Given the description of an element on the screen output the (x, y) to click on. 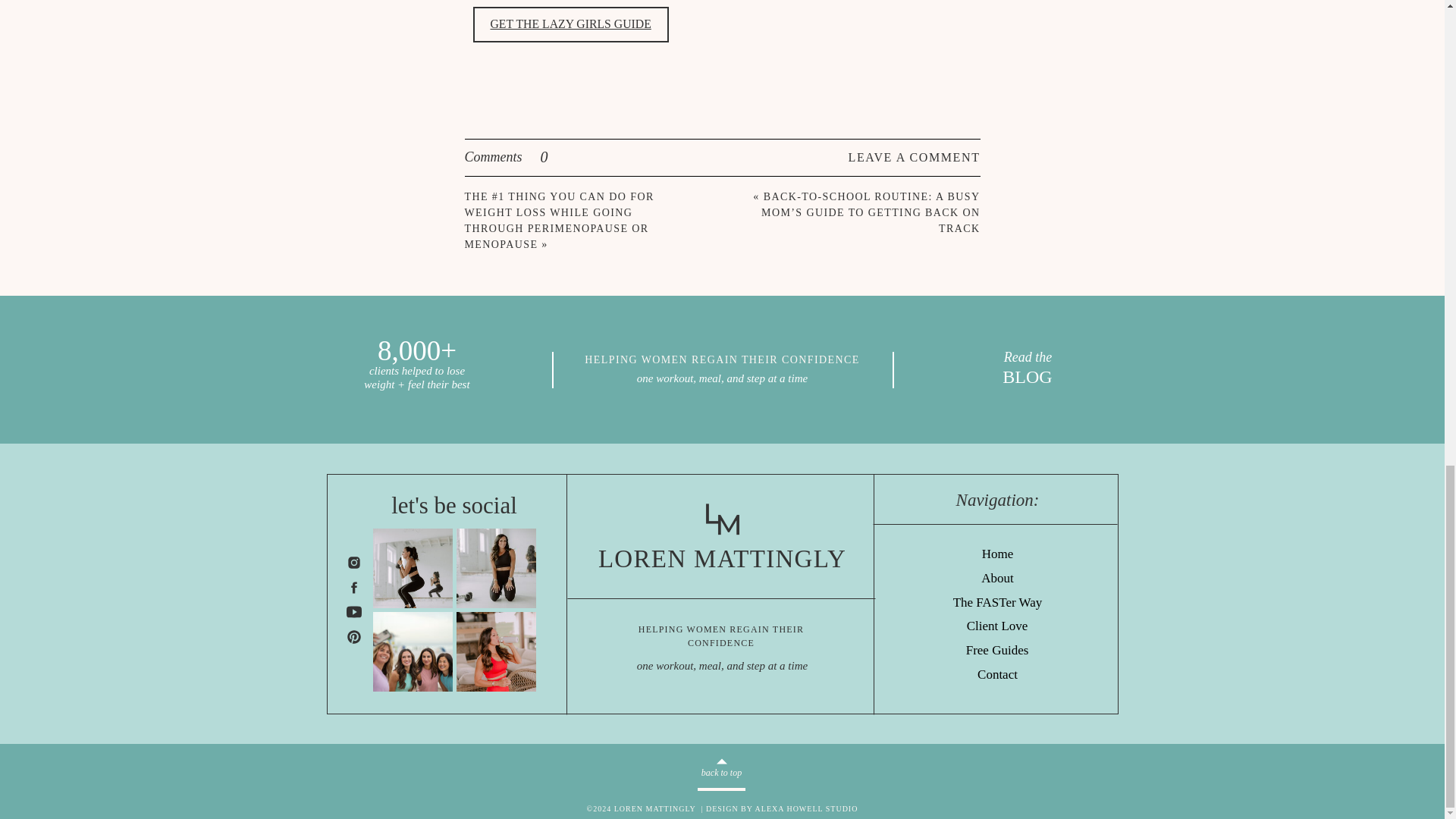
Read the (1027, 357)
loren2 (496, 568)
BLOG (1026, 378)
back to top (720, 775)
LEAVE A COMMENT (894, 157)
The FASTer Way (997, 602)
Free Guides (997, 651)
Home (997, 554)
fw-conference-selling-8 (412, 651)
Contact (996, 674)
Comments (545, 157)
8W0A9856 (496, 651)
Client Love (996, 626)
GET THE LAZY GIRLS GUIDE (570, 24)
About (997, 579)
